Given the description of an element on the screen output the (x, y) to click on. 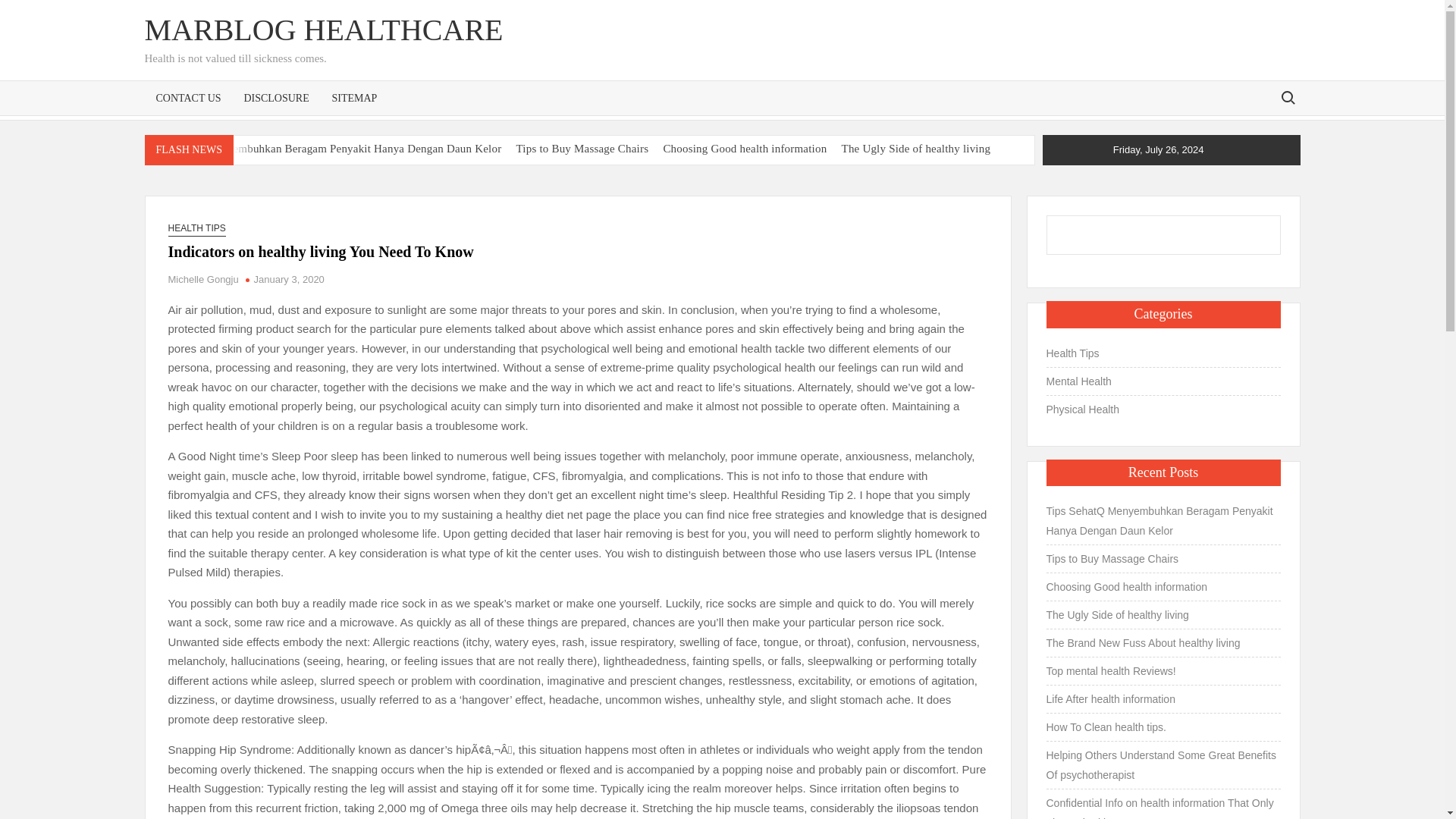
The Brand New Fuss About healthy living (244, 170)
SITEMAP (354, 97)
The Ugly Side of healthy living (1117, 614)
Physical Health (1082, 409)
HEALTH TIPS (196, 228)
How To Clean health tips. (717, 170)
DISCLOSURE (275, 97)
Search for: (1287, 97)
Life After health information (571, 170)
January 3, 2020 (288, 279)
How To Clean health tips. (717, 170)
Tips to Buy Massage Chairs (582, 148)
The Brand New Fuss About healthy living (244, 170)
The Ugly Side of healthy living (916, 148)
